Given the description of an element on the screen output the (x, y) to click on. 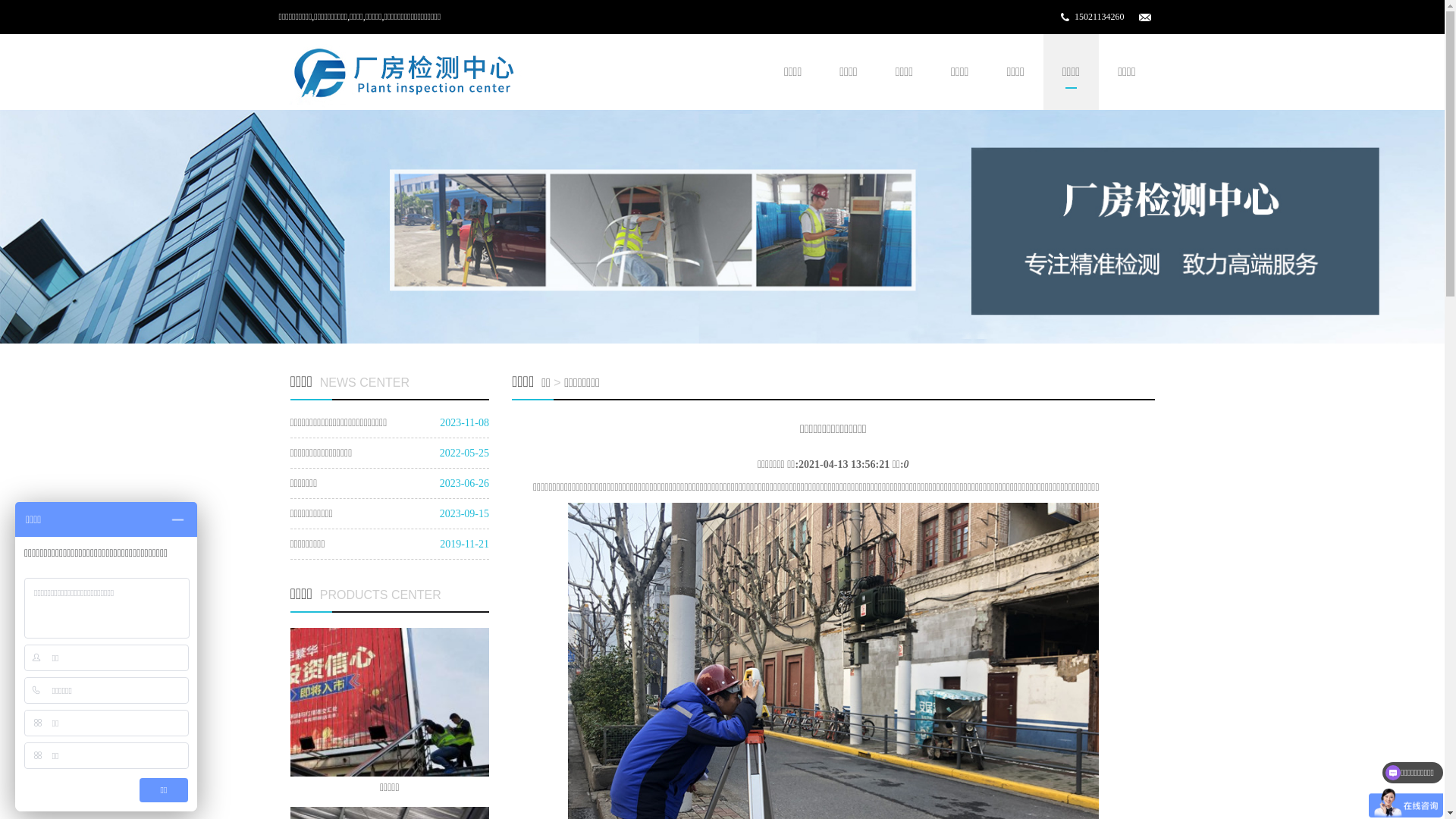
15021134260 Element type: text (1099, 16)
